Given the description of an element on the screen output the (x, y) to click on. 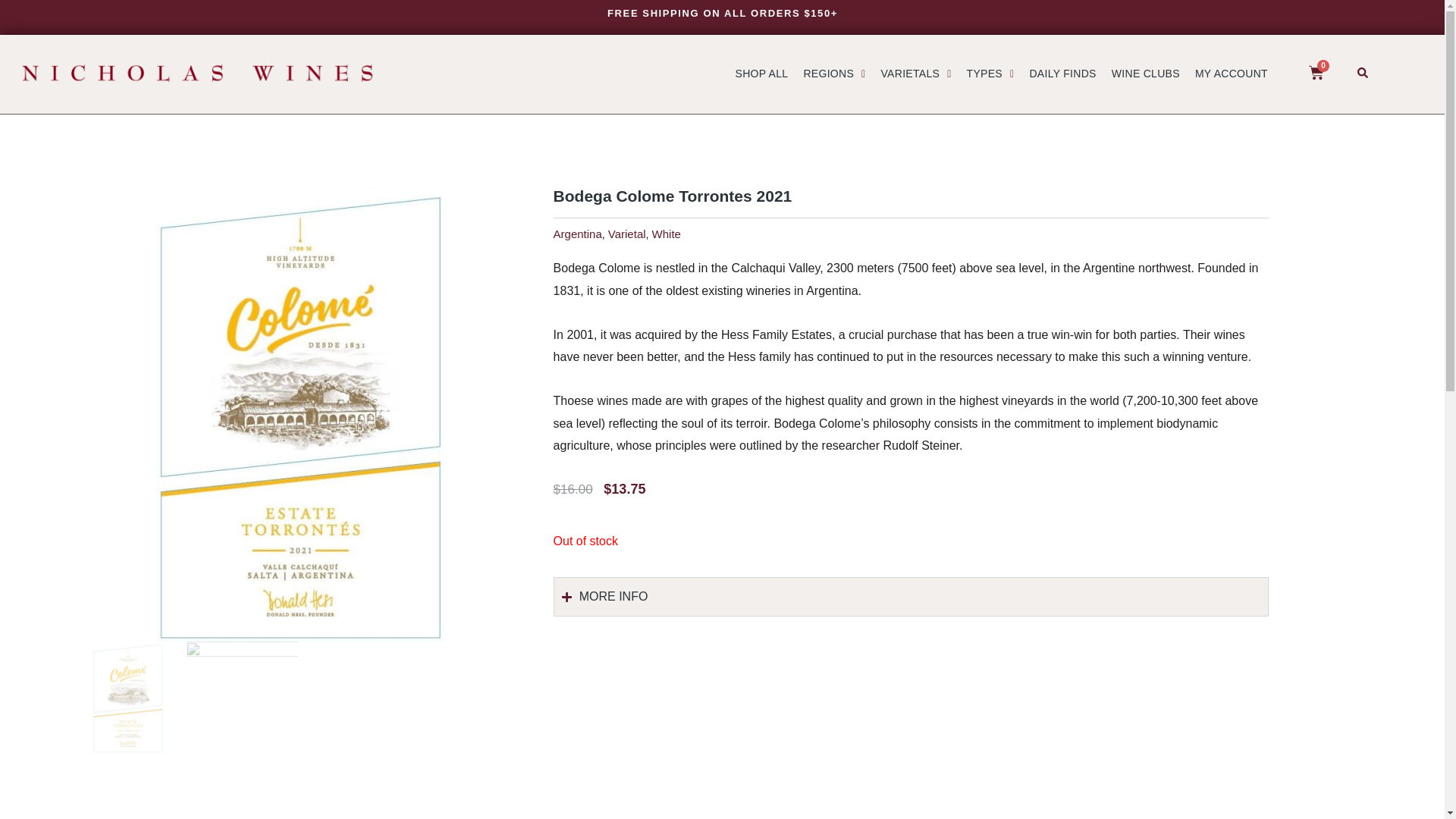
REGIONS (833, 73)
colome winery (242, 698)
bodega colome (127, 696)
VARIETALS (915, 73)
SHOP ALL (762, 73)
